Given the description of an element on the screen output the (x, y) to click on. 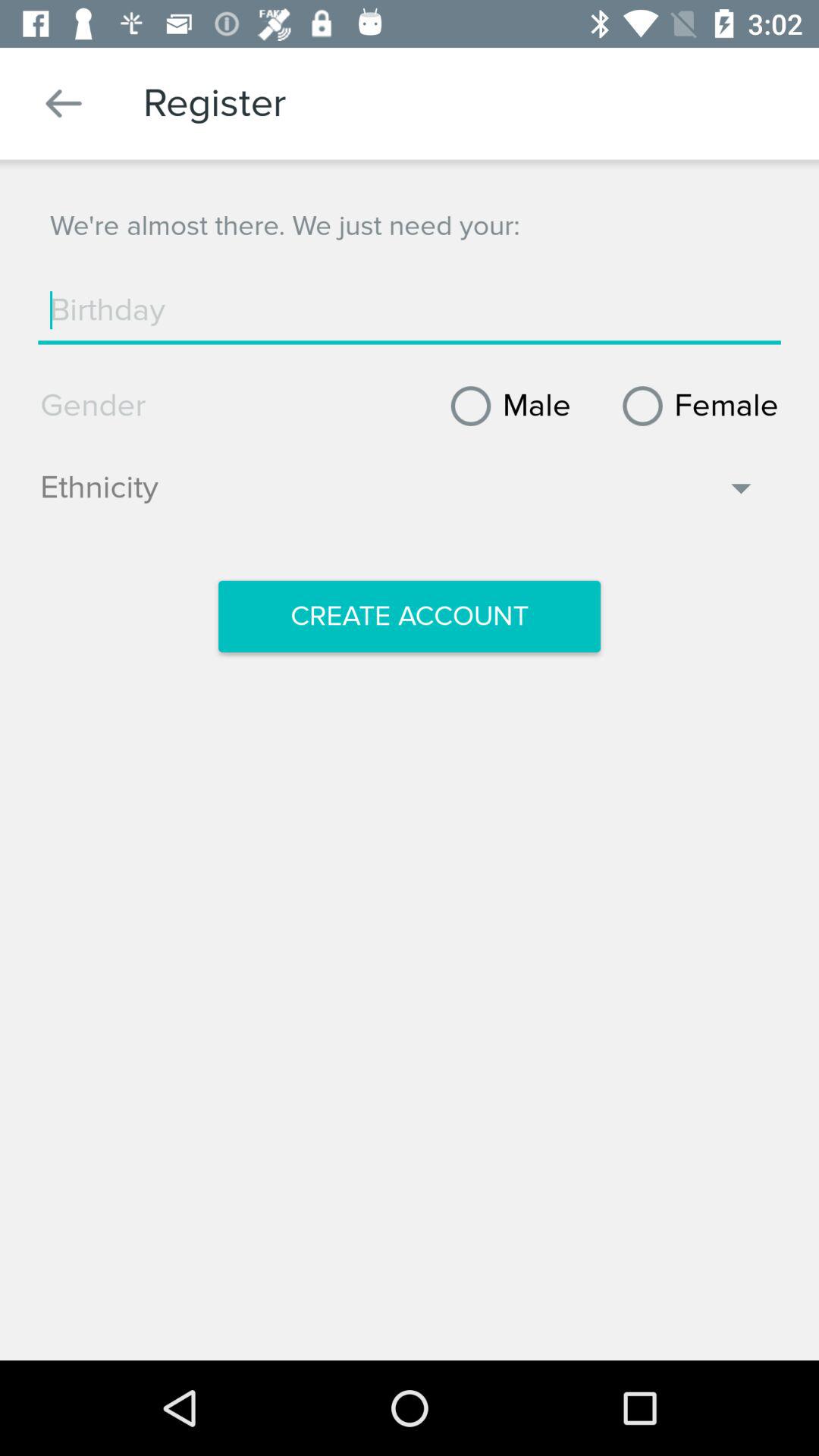
tap the item below the we re almost (409, 310)
